Given the description of an element on the screen output the (x, y) to click on. 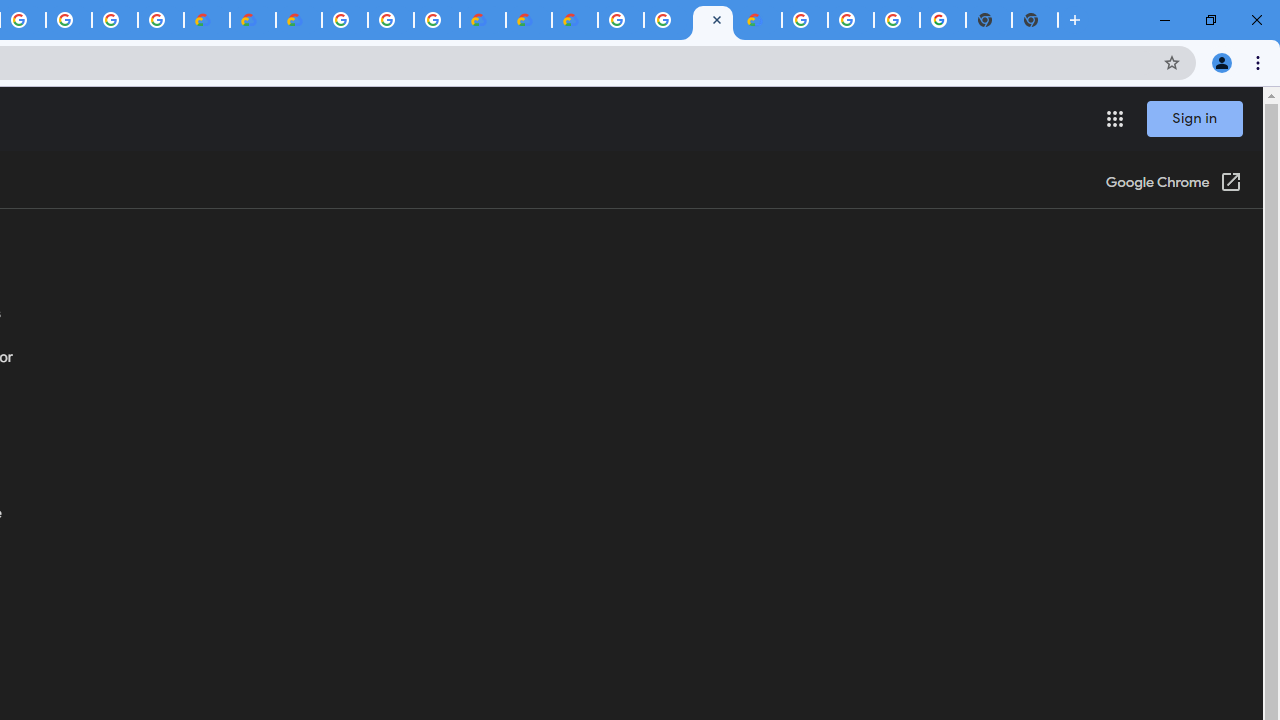
Customer Care | Google Cloud (207, 20)
Google Cloud Platform (390, 20)
Gemini for Business and Developers | Google Cloud (299, 20)
Google Cloud Service Health (759, 20)
Browse Chrome as a guest - Computer - Google Chrome Help (712, 20)
Google Cloud Pricing Calculator (528, 20)
Google Chrome (Open in a new window) (1173, 183)
